Given the description of an element on the screen output the (x, y) to click on. 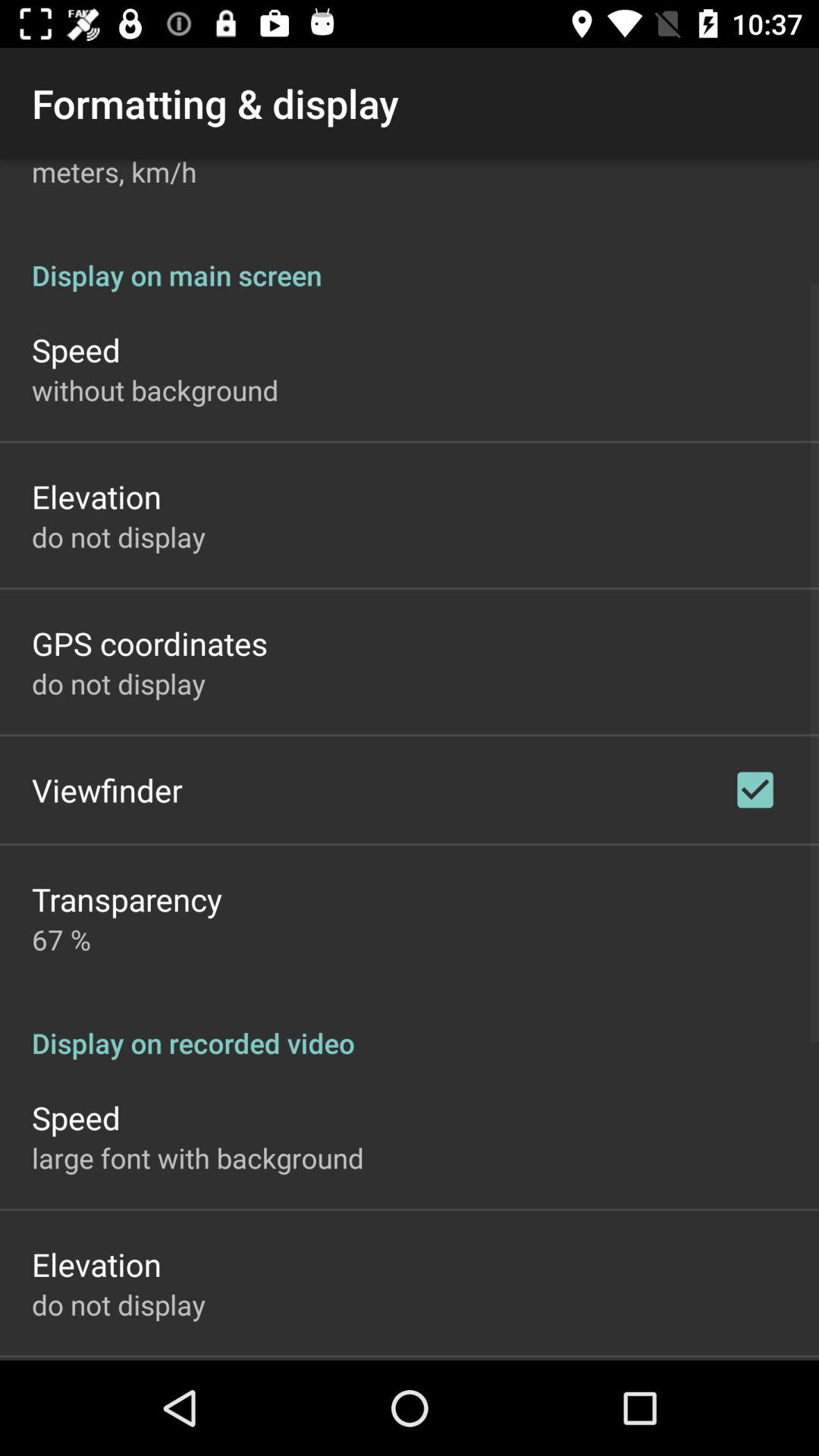
launch the item above transparency app (106, 789)
